Given the description of an element on the screen output the (x, y) to click on. 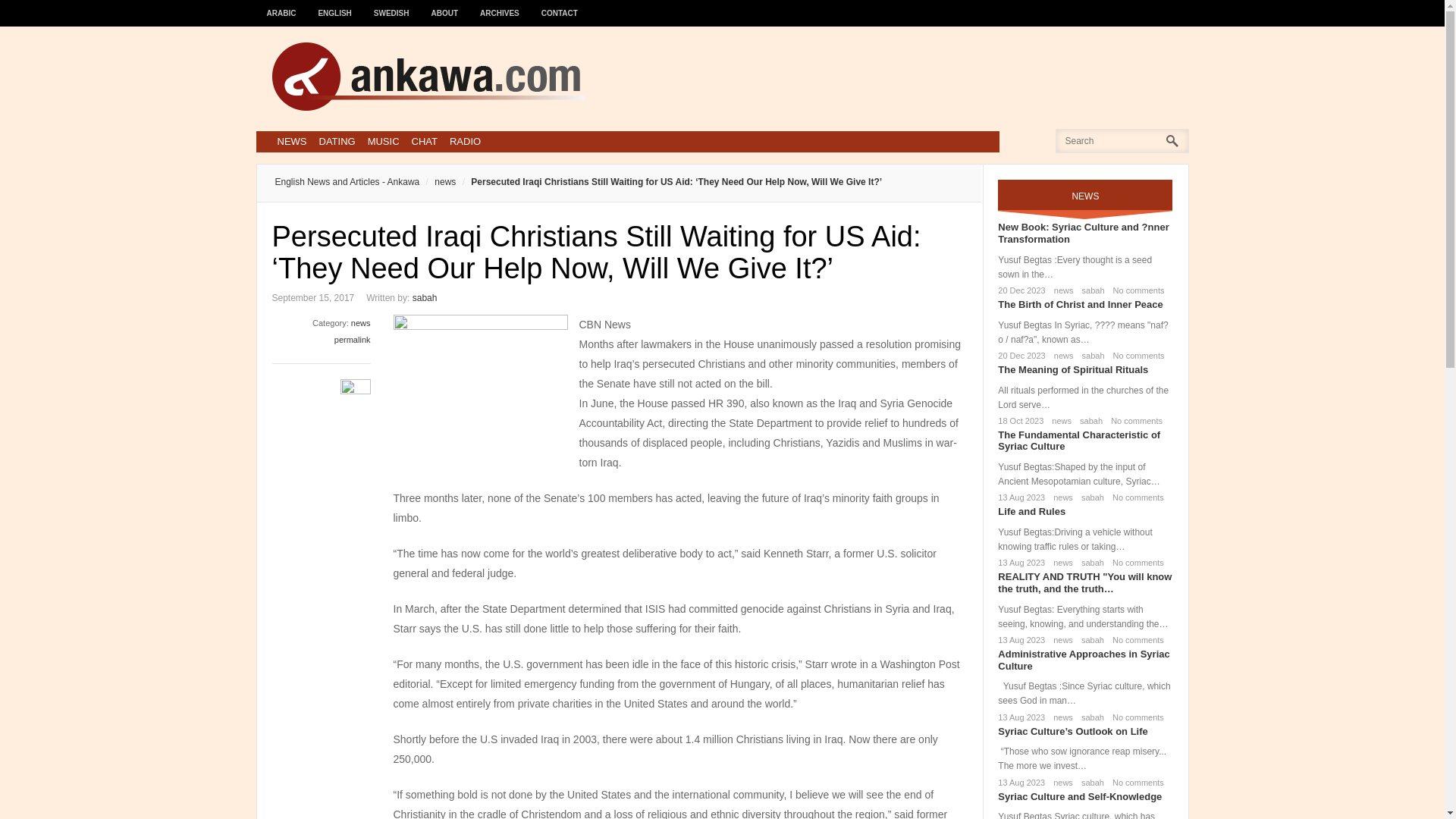
New Book: Syriac Culture and ?nner Transformation (1083, 232)
ENGLISH (334, 5)
The Birth of Christ and Inner Peace (1079, 304)
news (1059, 497)
The Fundamental Characteristic of Syriac Culture (1078, 440)
news (1061, 355)
sabah (1089, 497)
news (360, 322)
Life and Rules (1031, 511)
